Given the description of an element on the screen output the (x, y) to click on. 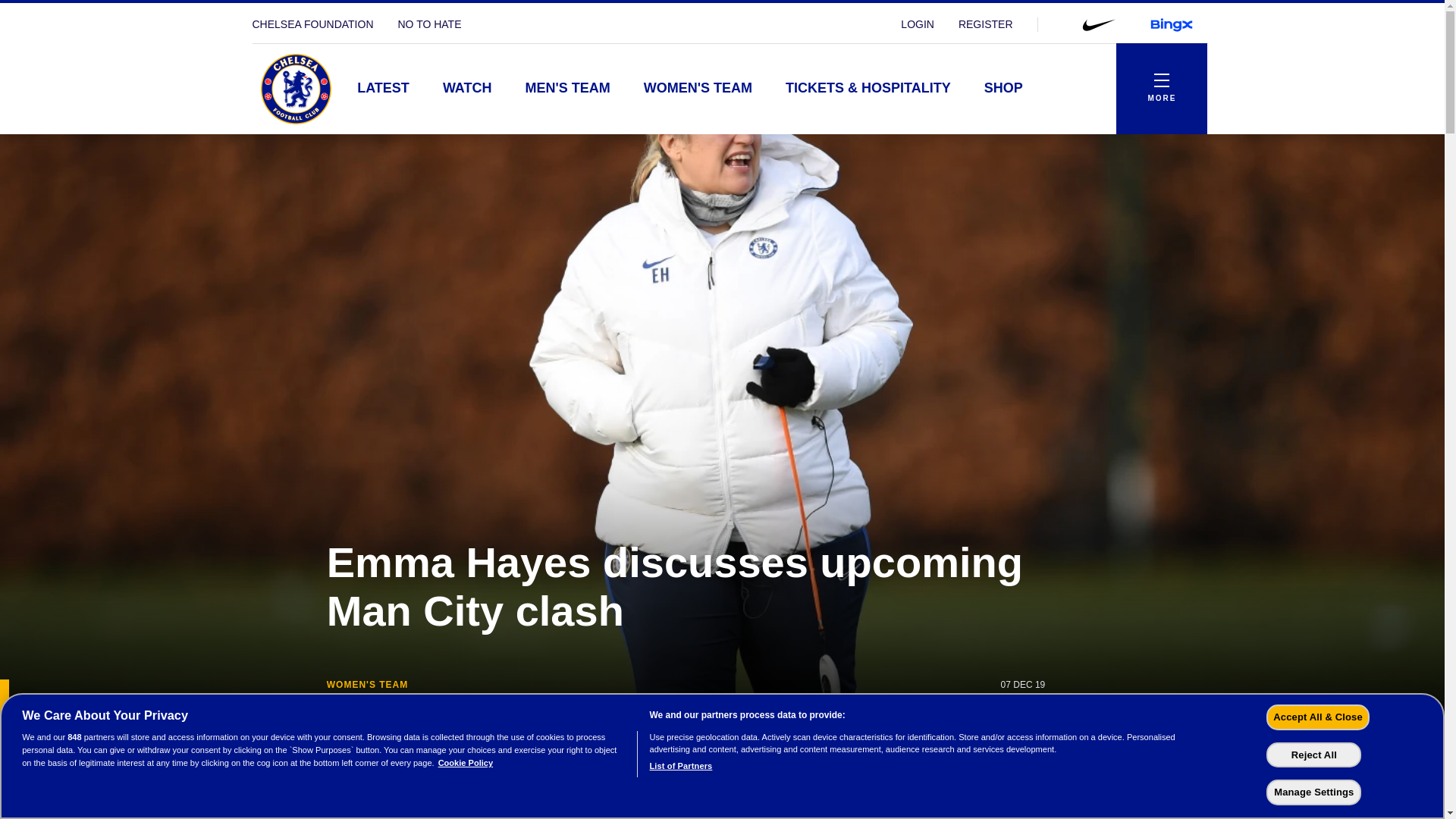
LOGIN (917, 23)
CHELSEA FOUNDATION (311, 24)
Chelsea Foundation (311, 24)
facebook (1121, 731)
WOMEN'S TEAM (697, 88)
WATCH (467, 88)
MEN'S TEAM (567, 88)
Nike (1097, 24)
REGISTER (985, 23)
copy-link (1197, 731)
NO TO HATE (429, 24)
twitter (1159, 731)
LATEST (383, 88)
Bingx (1170, 24)
No To Hate (429, 24)
